Given the description of an element on the screen output the (x, y) to click on. 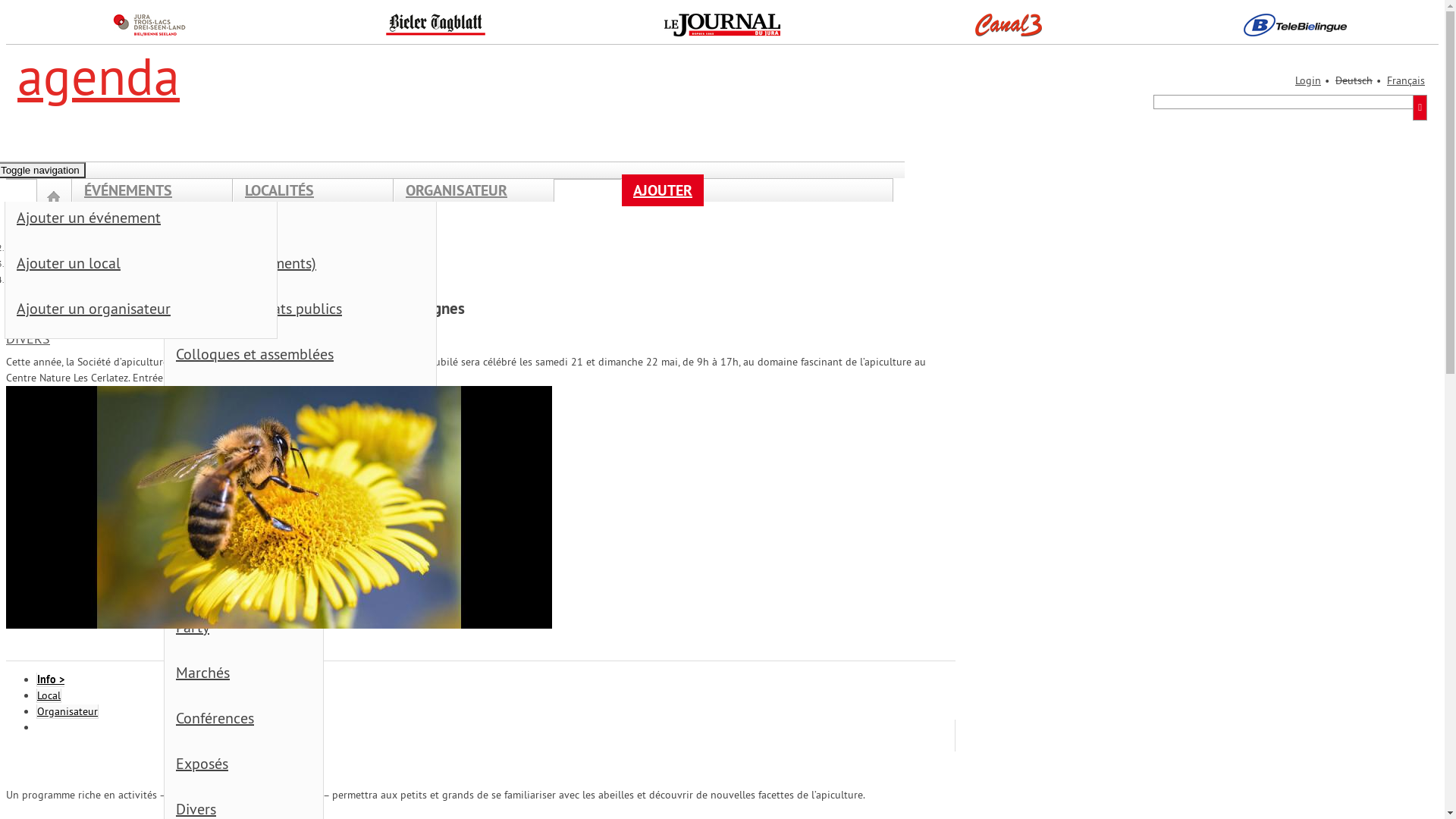
HOME Element type: text (54, 201)
Famille Element type: text (254, 448)
Tous Element type: text (311, 221)
Sport Element type: text (254, 312)
Divers Element type: text (311, 494)
Politique Element type: text (95, 266)
Expositions Element type: text (254, 357)
Sessions (parlaments) Element type: text (311, 266)
Aller au contenu principal Element type: text (6, 6)
Musique Element type: text (254, 266)
Local Element type: text (48, 695)
Tous Element type: text (254, 221)
Culture Element type: text (95, 221)
ORGANISATEUR Element type: text (456, 190)
Ajouter un organisateur Element type: text (152, 312)
AJOUTER Element type: text (662, 190)
DIVERS Element type: text (28, 338)
Login Element type: text (1308, 80)
Info Element type: text (50, 679)
Accueil Element type: text (85, 231)
Divers Element type: text (27, 263)
Ajouter un local Element type: text (152, 266)
Party Element type: text (254, 630)
Culture Element type: text (29, 247)
Organisateur Element type: text (67, 711)
agenda Element type: text (98, 75)
